Given the description of an element on the screen output the (x, y) to click on. 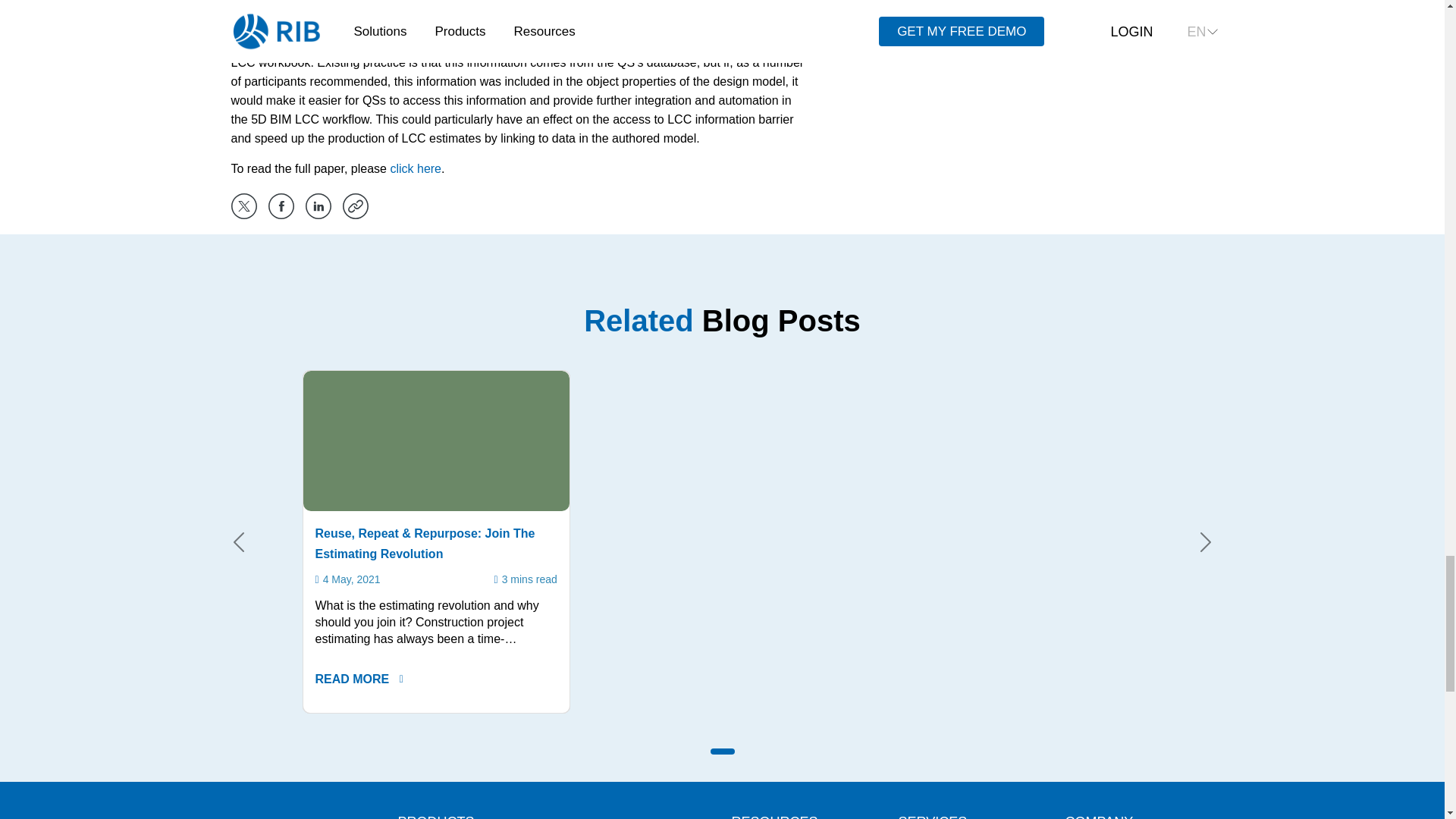
Share on Facebook (280, 206)
Share on Twitter (243, 206)
Share on LinkedIn (317, 206)
